Given the description of an element on the screen output the (x, y) to click on. 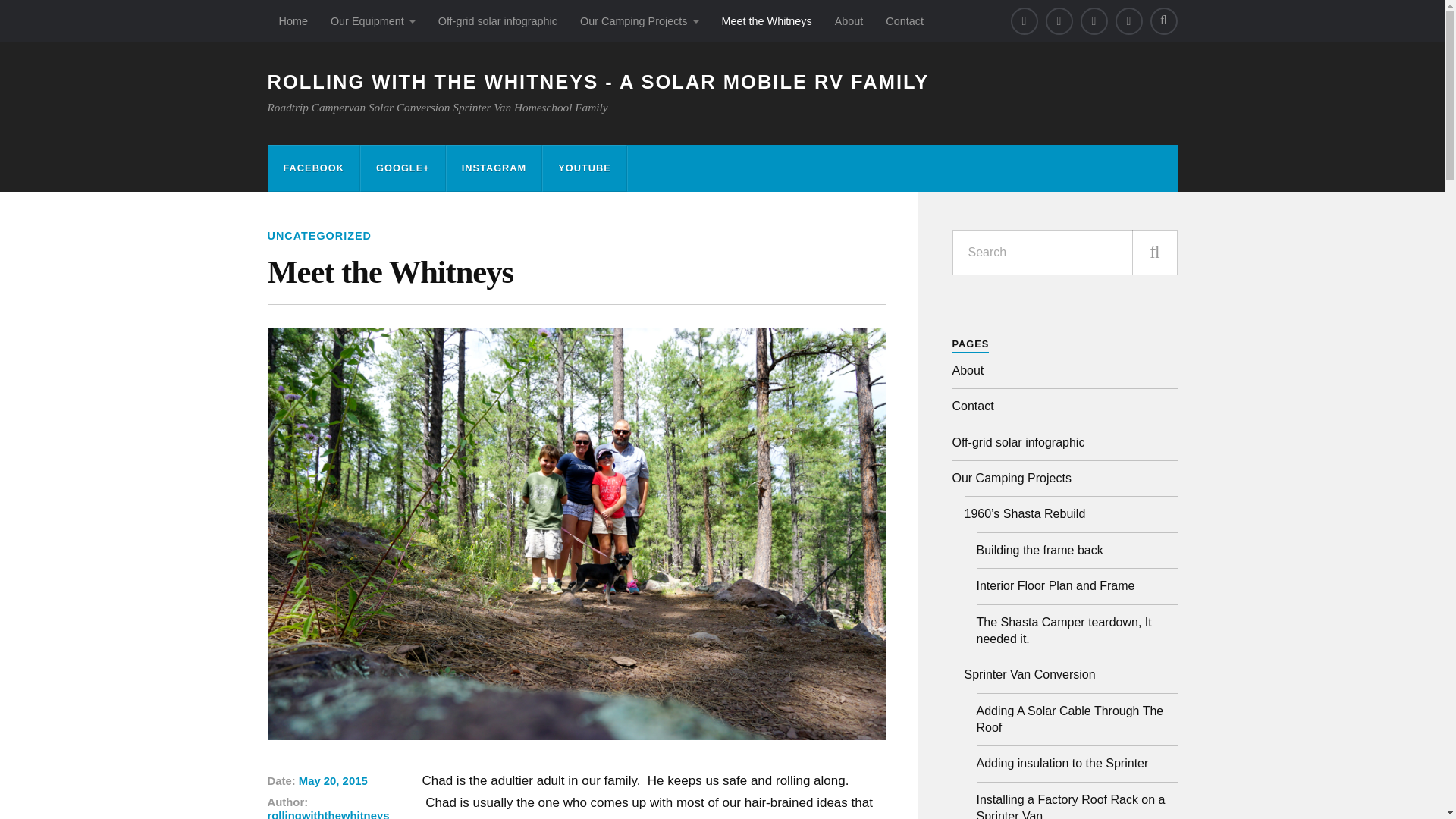
YOUTUBE (584, 167)
May 20, 2015 (333, 780)
ROLLING WITH THE WHITNEYS - A SOLAR MOBILE RV FAMILY (597, 81)
Contact (904, 21)
Our Camping Projects (639, 21)
Search for: (1064, 252)
Our Equipment (372, 21)
Off-grid solar infographic (497, 21)
Home (292, 21)
FACEBOOK (313, 167)
